Given the description of an element on the screen output the (x, y) to click on. 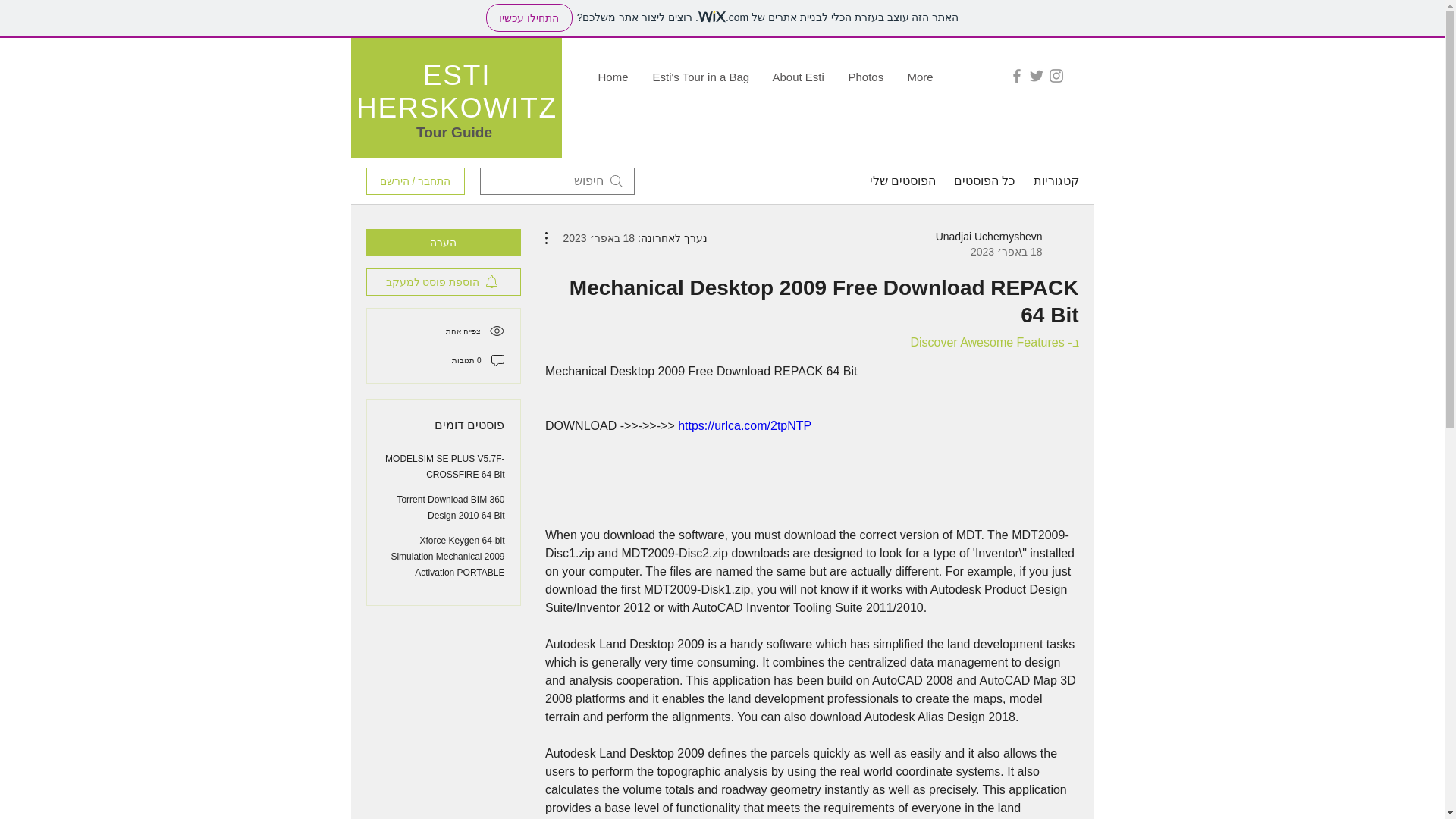
ESTI HERSKOWITZ (456, 91)
Esti's Tour in a Bag (701, 77)
Torrent Download BIM 360 Design 2010 64 Bit (449, 507)
About Esti (799, 77)
Home (614, 77)
Photos (866, 77)
Tour Guide (454, 132)
MODELSIM SE PLUS V5.7F-CROSSFiRE 64 Bit (444, 466)
